Given the description of an element on the screen output the (x, y) to click on. 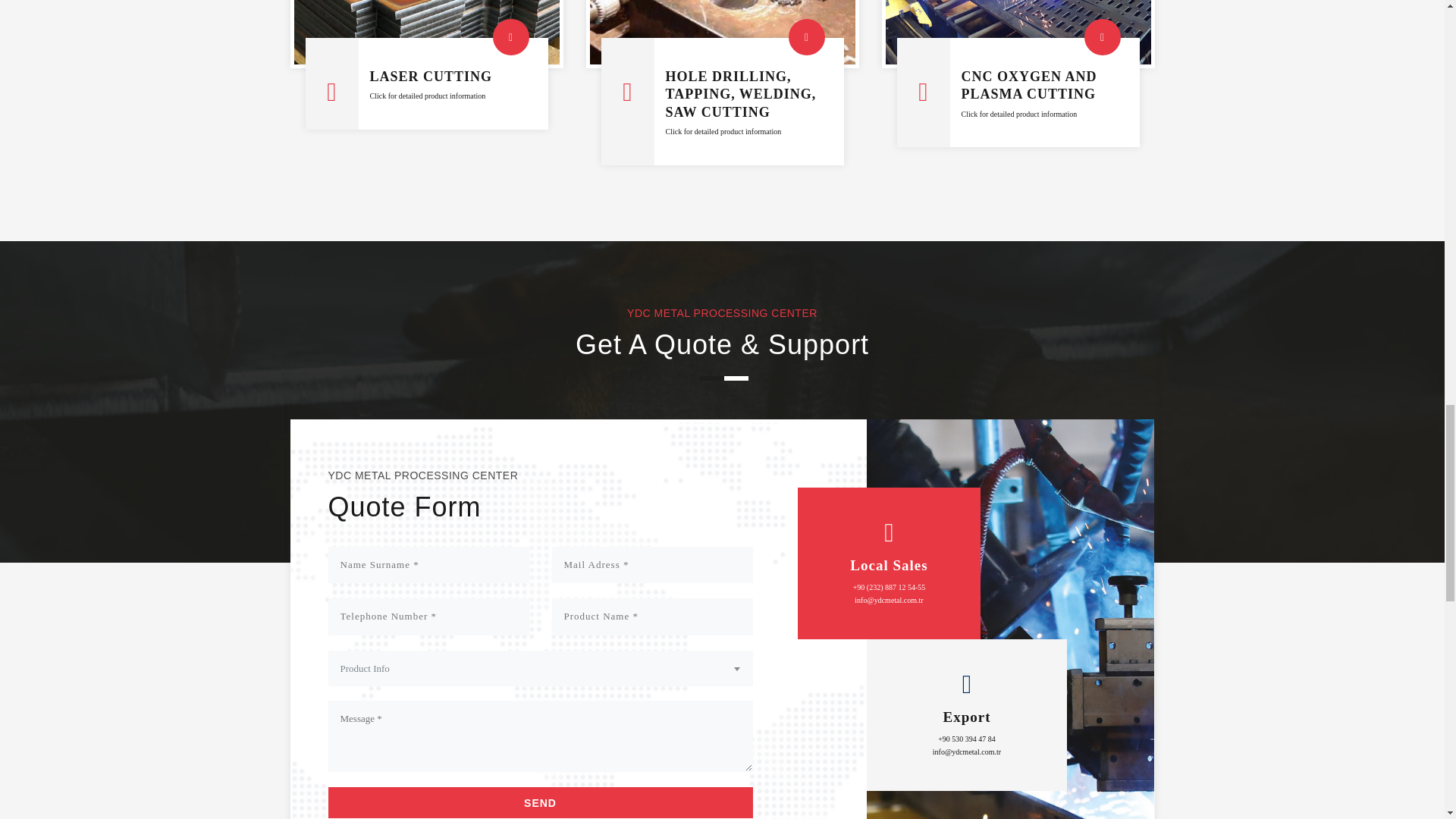
Product Info (539, 668)
HOLE DRILLING, TAPPING, WELDING, SAW CUTTING (740, 93)
SEND (539, 802)
CNC OXYGEN AND PLASMA CUTTING (1028, 84)
LASER CUTTING (431, 76)
